Given the description of an element on the screen output the (x, y) to click on. 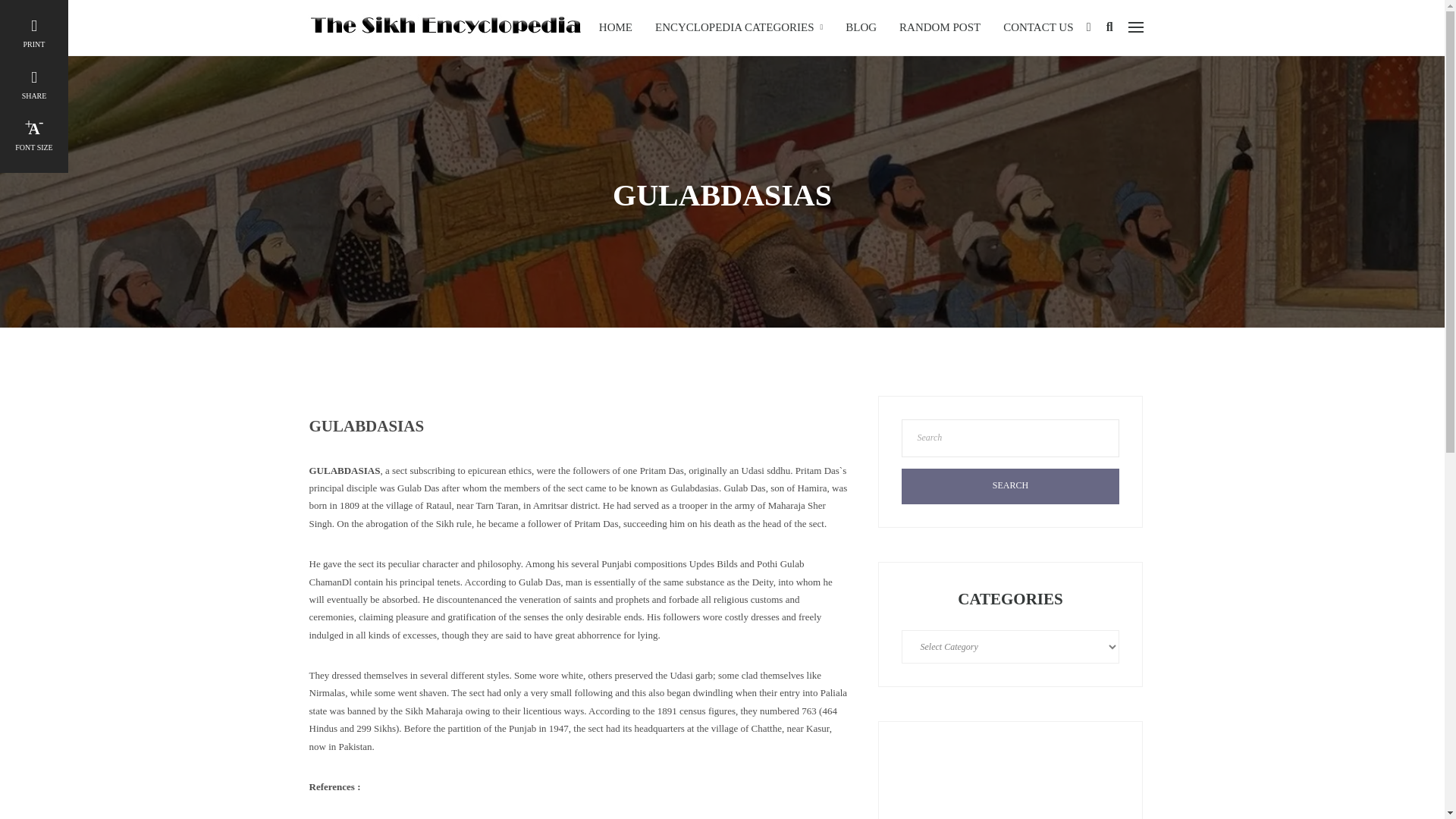
Advertisement (1010, 781)
RANDOM POST (939, 27)
BLOG (861, 27)
ENCYCLOPEDIA CATEGORIES (738, 27)
CONTACT US (1037, 27)
HOME (615, 27)
The Sikh Encyclopedia (443, 25)
